Given the description of an element on the screen output the (x, y) to click on. 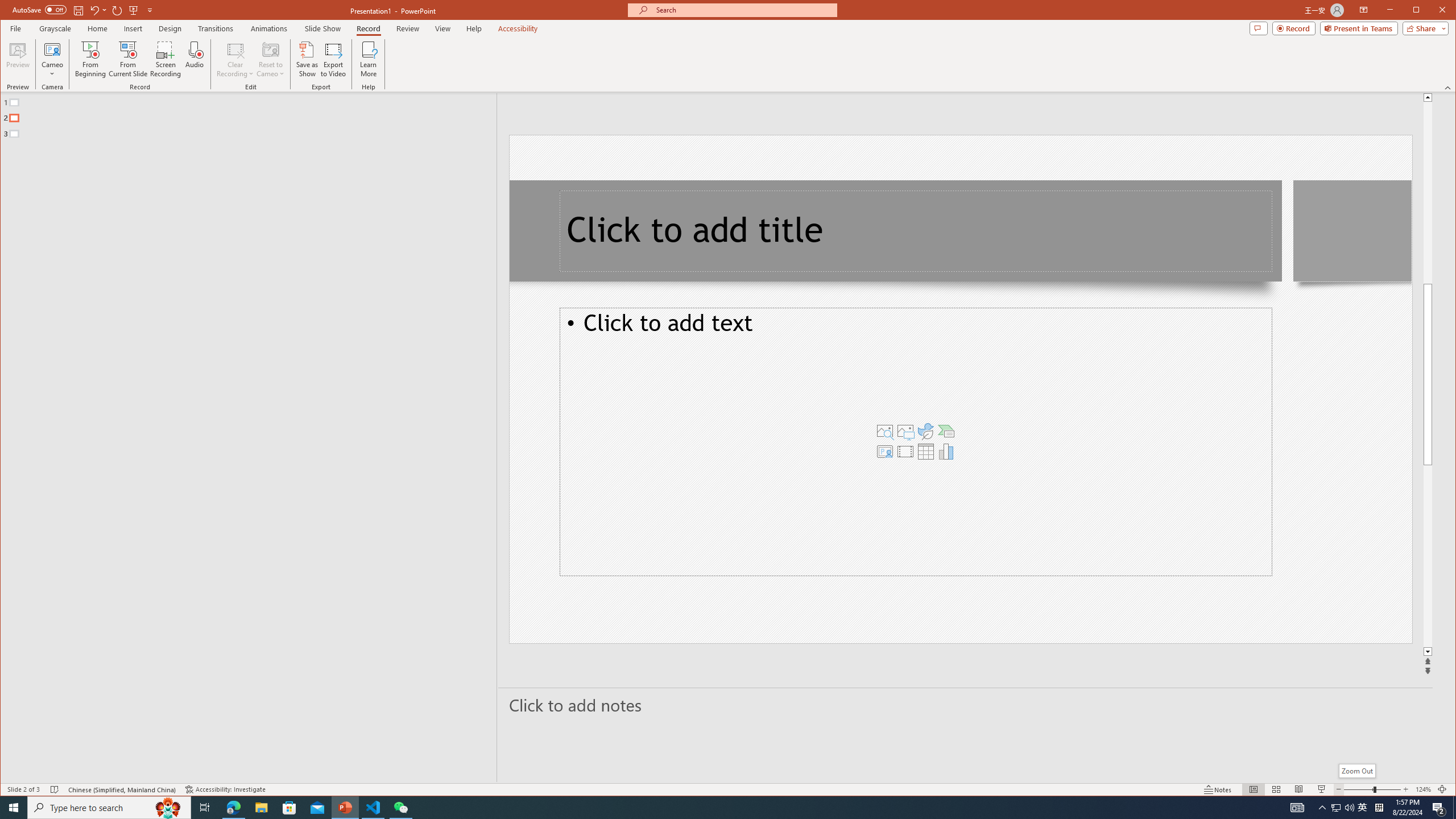
Export to Video (333, 59)
From Beginning... (90, 59)
Pictures (905, 430)
Insert Cameo (884, 451)
Insert Chart (946, 451)
